Given the description of an element on the screen output the (x, y) to click on. 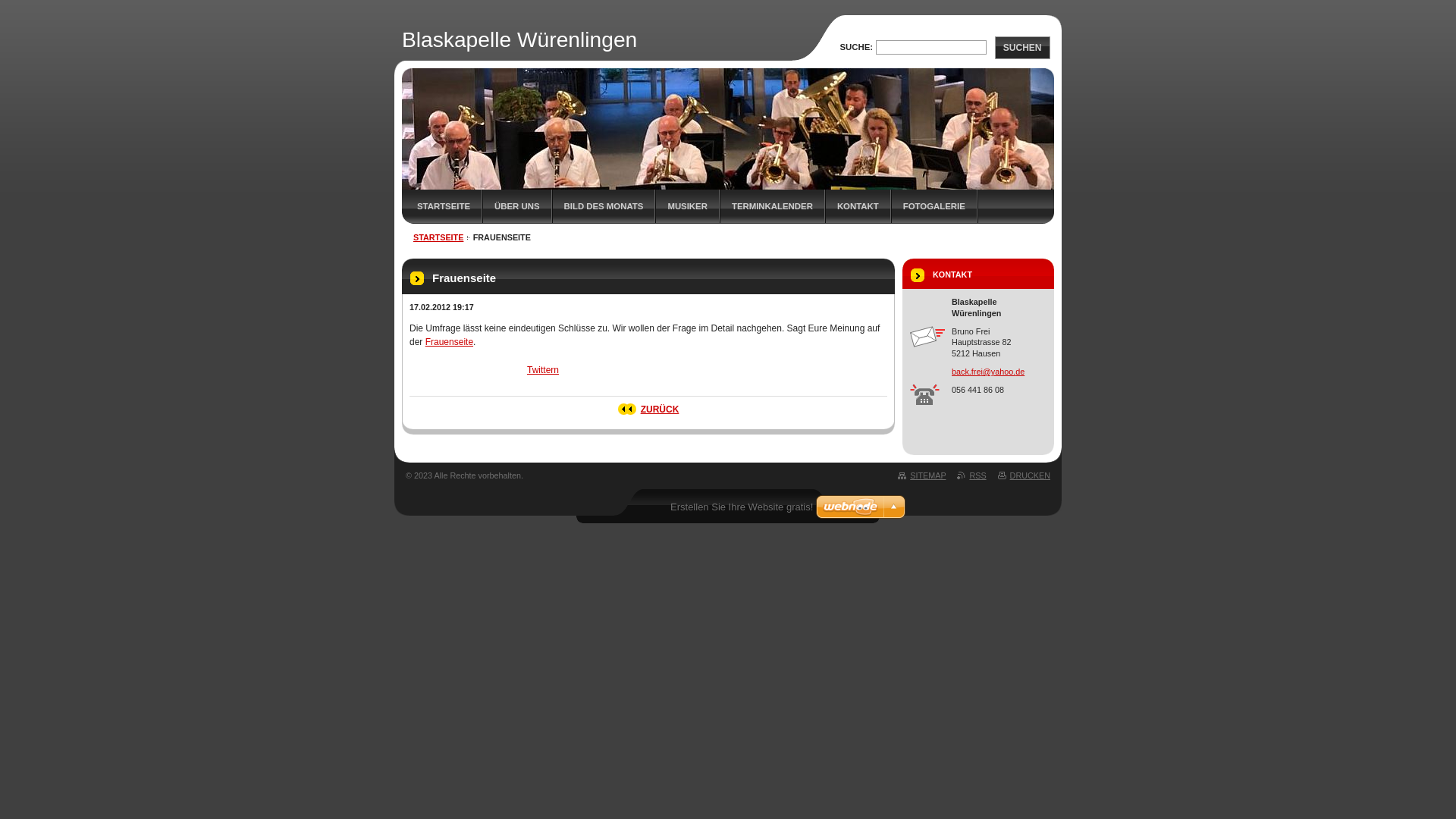
DRUCKEN Element type: text (1023, 475)
back.frei@yahoo.de Element type: text (998, 371)
Twittern Element type: text (542, 369)
KONTAKT Element type: text (858, 206)
FOTOGALERIE Element type: text (934, 206)
MUSIKER Element type: text (687, 206)
TERMINKALENDER Element type: text (772, 206)
STARTSEITE Element type: text (441, 206)
Frauenseite Element type: text (449, 341)
RSS Element type: text (971, 475)
Erstellen Sie Ihre Website gratis! Element type: text (741, 506)
STARTSEITE Element type: text (438, 236)
SITEMAP Element type: text (921, 475)
SUCHEN Element type: text (1022, 47)
BILD DES MONATS Element type: text (603, 206)
